Given the description of an element on the screen output the (x, y) to click on. 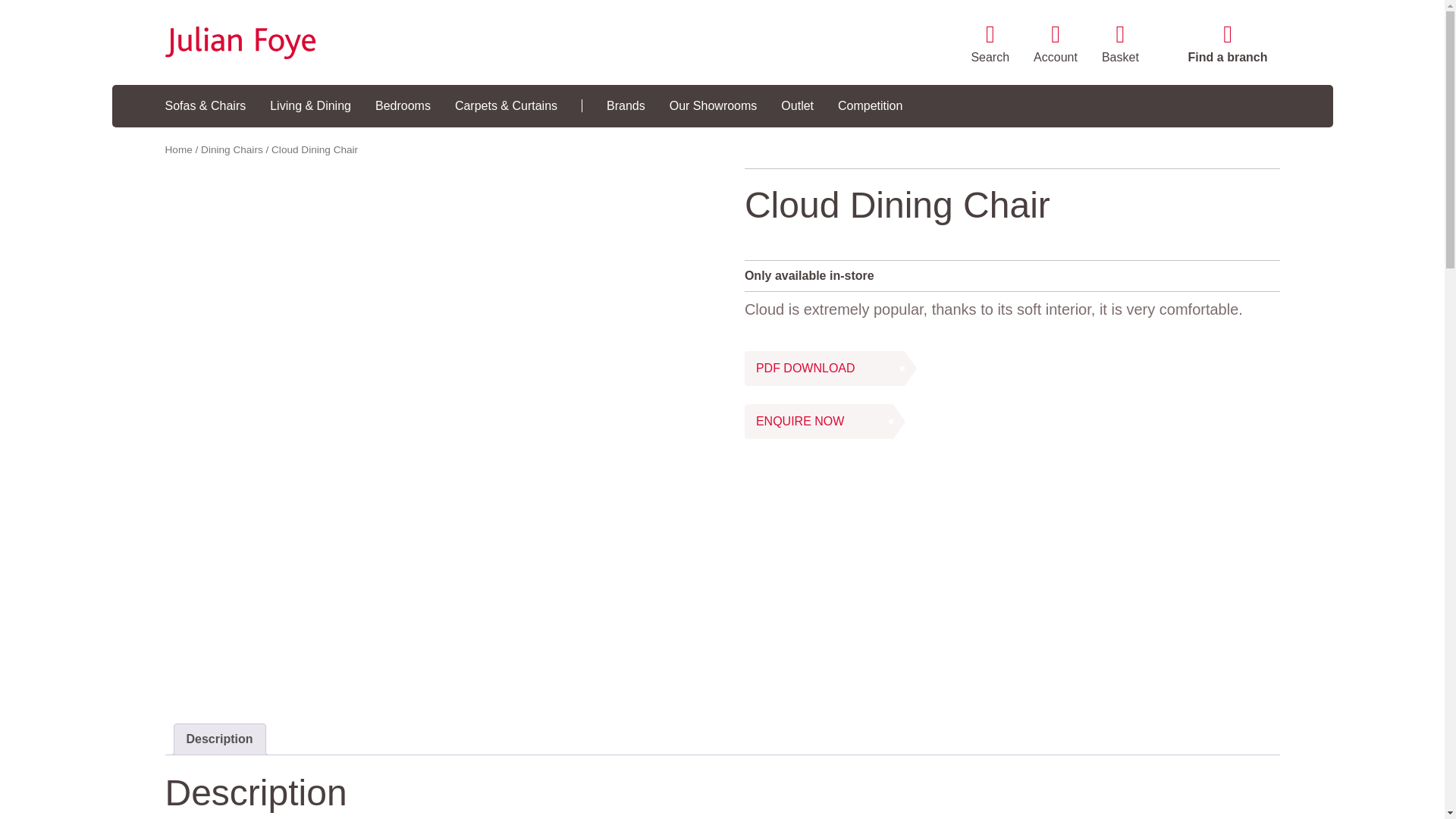
Account (1055, 45)
Search (990, 45)
Find a branch (1228, 45)
